Given the description of an element on the screen output the (x, y) to click on. 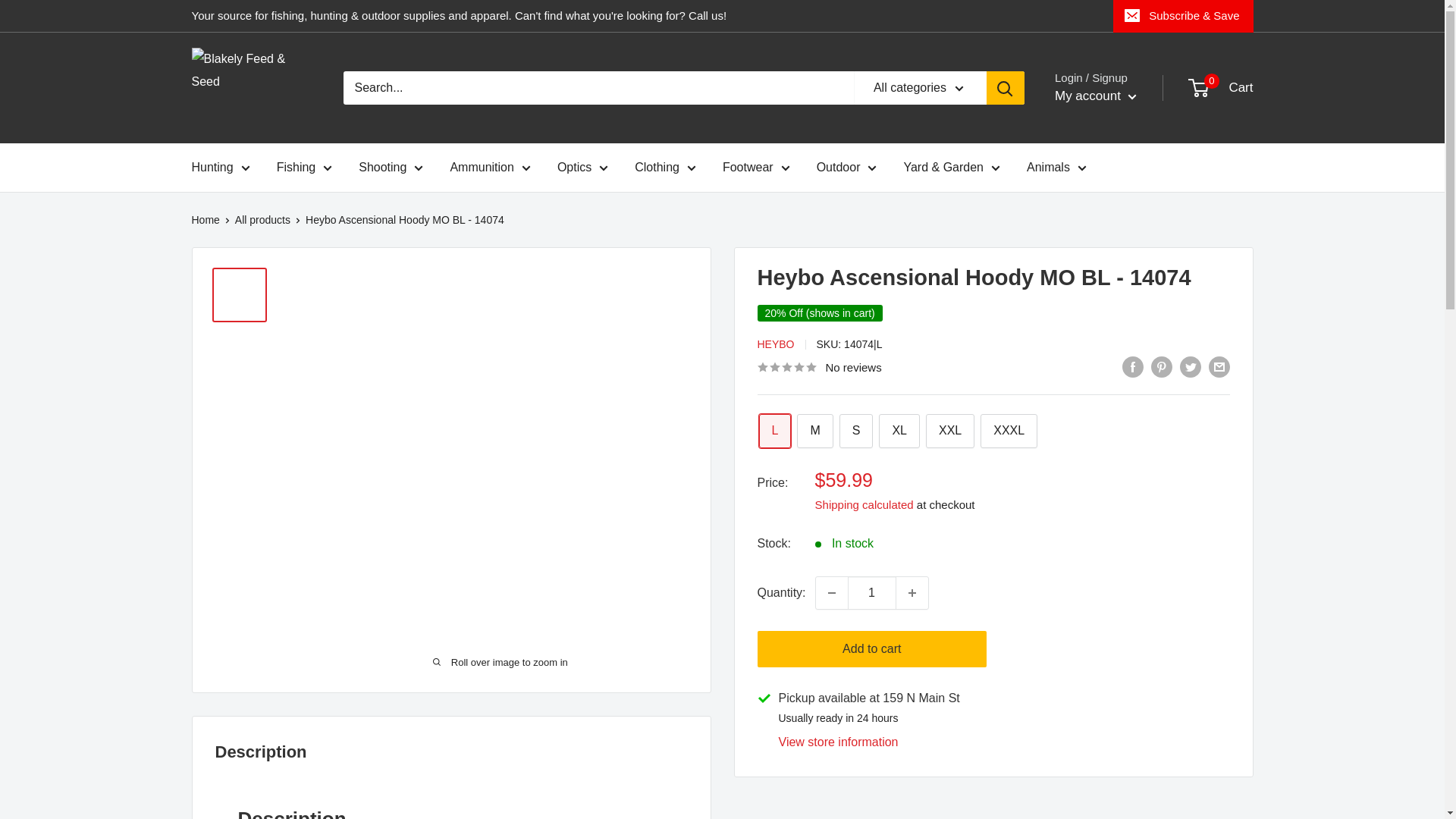
XL (899, 430)
Increase quantity by 1 (912, 593)
S (856, 430)
Decrease quantity by 1 (831, 593)
XXXL (1007, 430)
XXL (950, 430)
M (814, 430)
L (774, 430)
1 (871, 593)
